Given the description of an element on the screen output the (x, y) to click on. 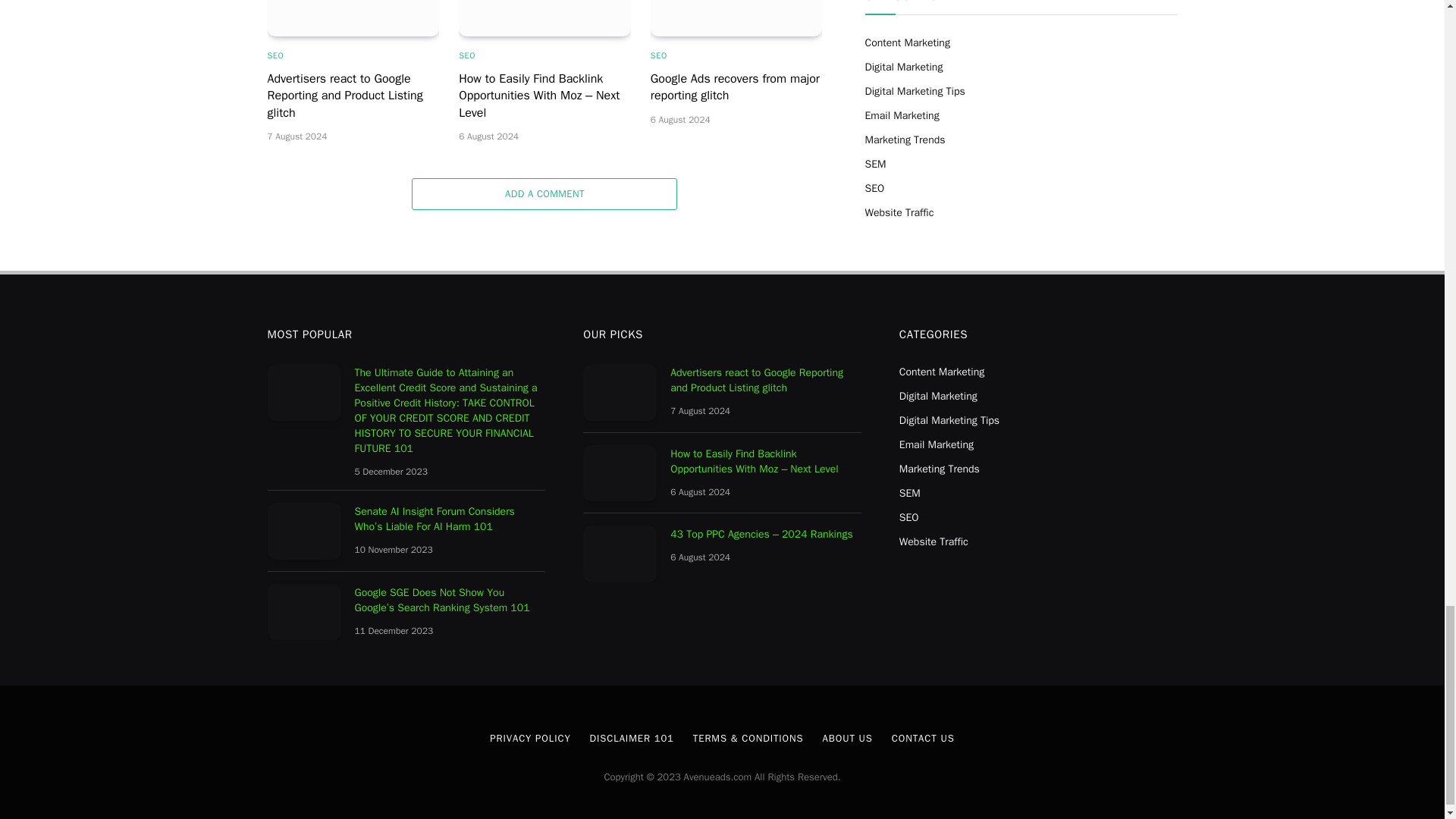
SEO (467, 55)
SEO (274, 55)
Google Ads recovers from major reporting glitch (736, 18)
